Given the description of an element on the screen output the (x, y) to click on. 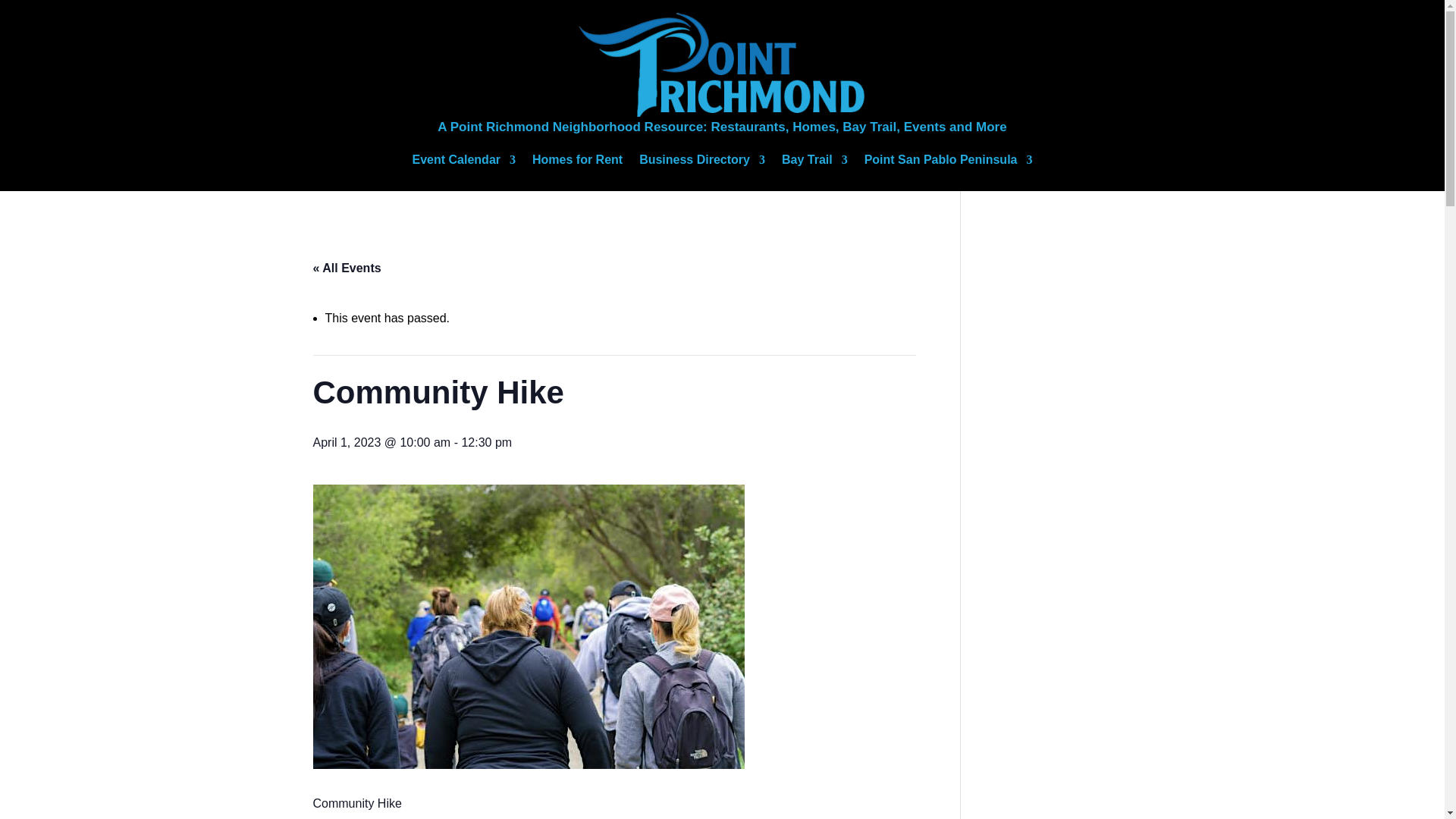
Bay Trail (814, 163)
Homes for Rent (577, 163)
point-richmond-logo-2021-170PX (722, 62)
Event Calendar (463, 163)
Point San Pablo Peninsula (948, 163)
Business Directory (702, 163)
